Given the description of an element on the screen output the (x, y) to click on. 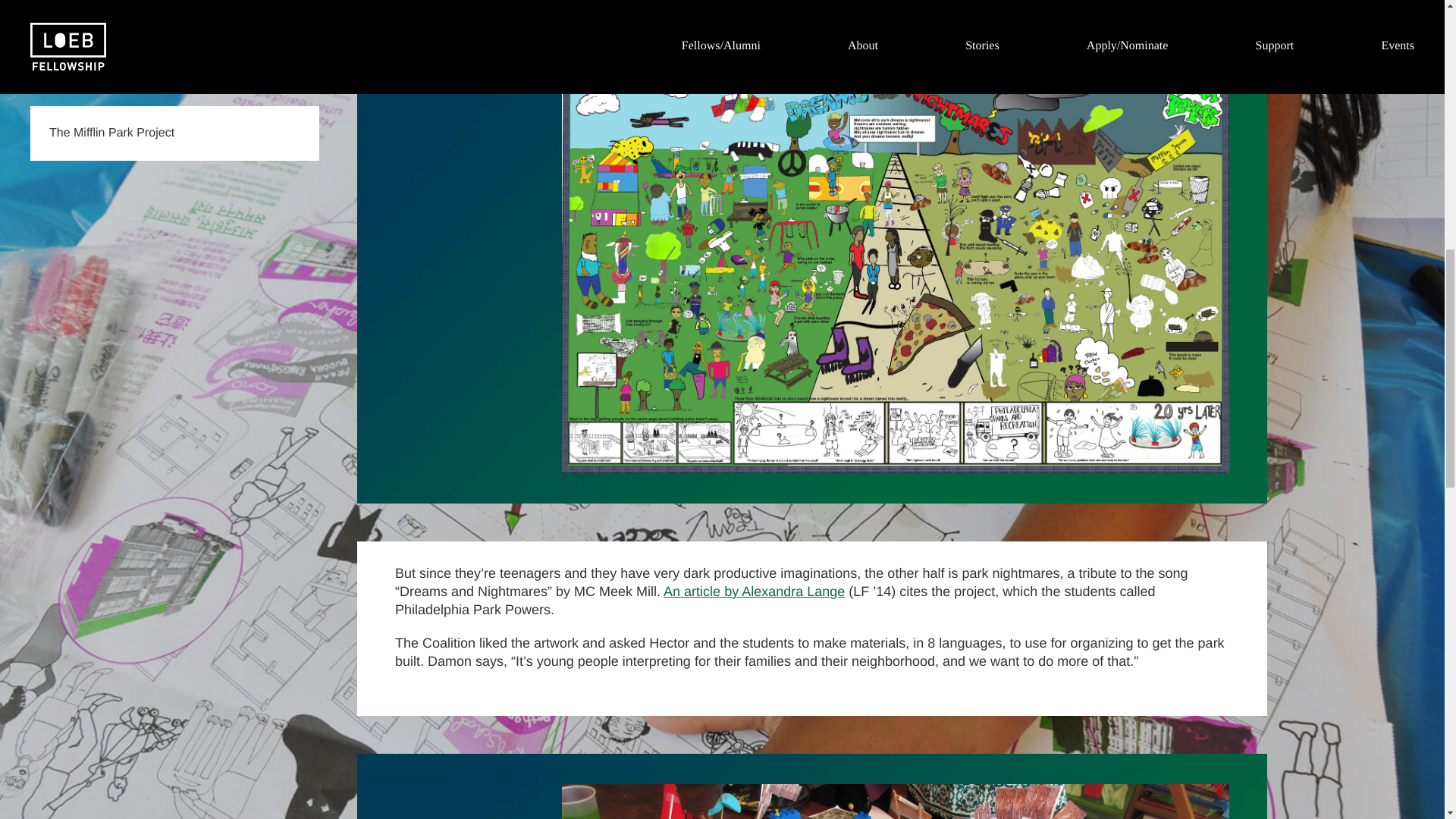
An article by Alexandra Lange (753, 590)
